Given the description of an element on the screen output the (x, y) to click on. 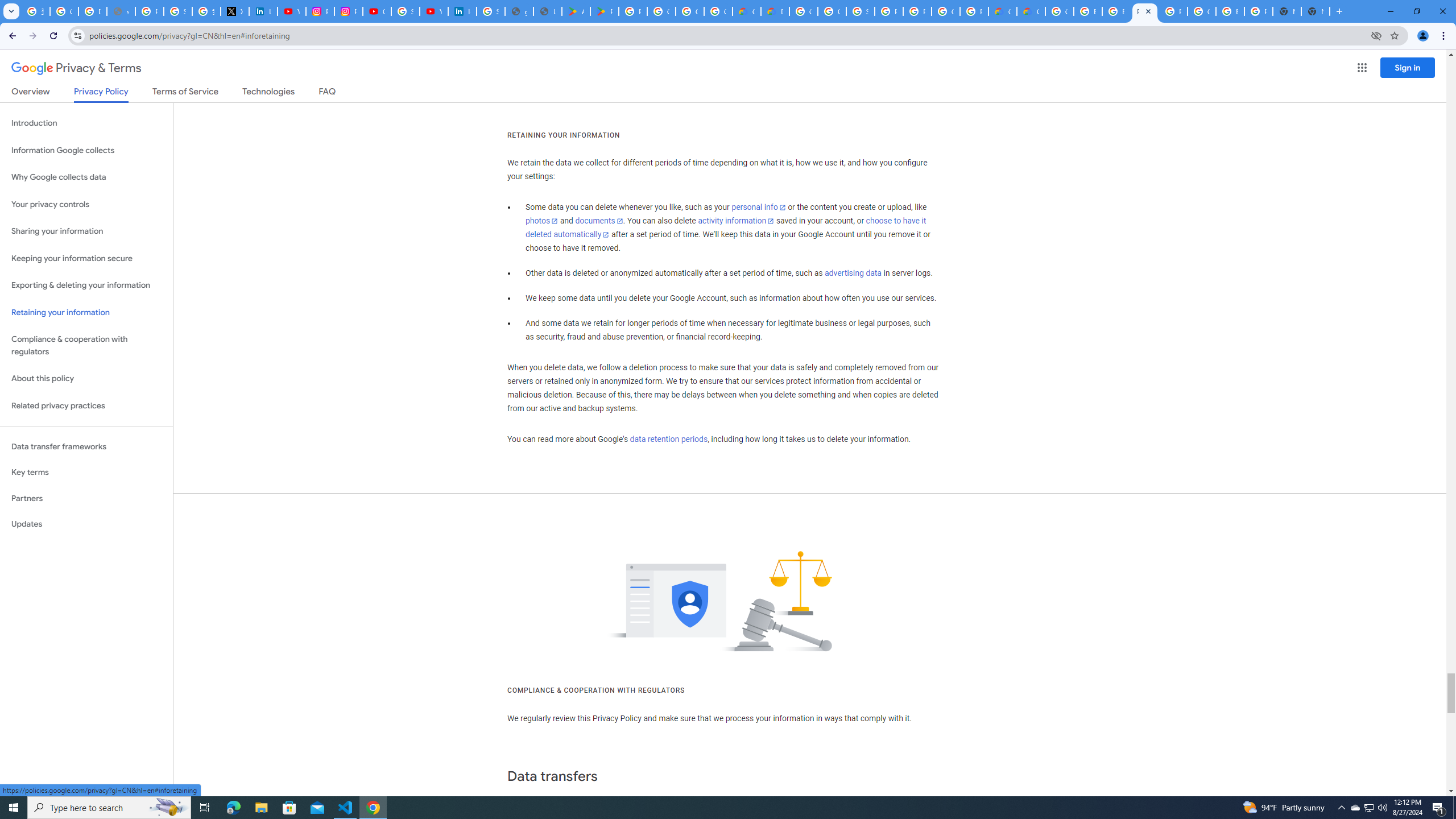
advertising data (852, 273)
choose to have it deleted automatically (725, 227)
Google Cloud Platform (945, 11)
Google Cloud Estimate Summary (1030, 11)
Privacy Help Center - Policies Help (148, 11)
